Given the description of an element on the screen output the (x, y) to click on. 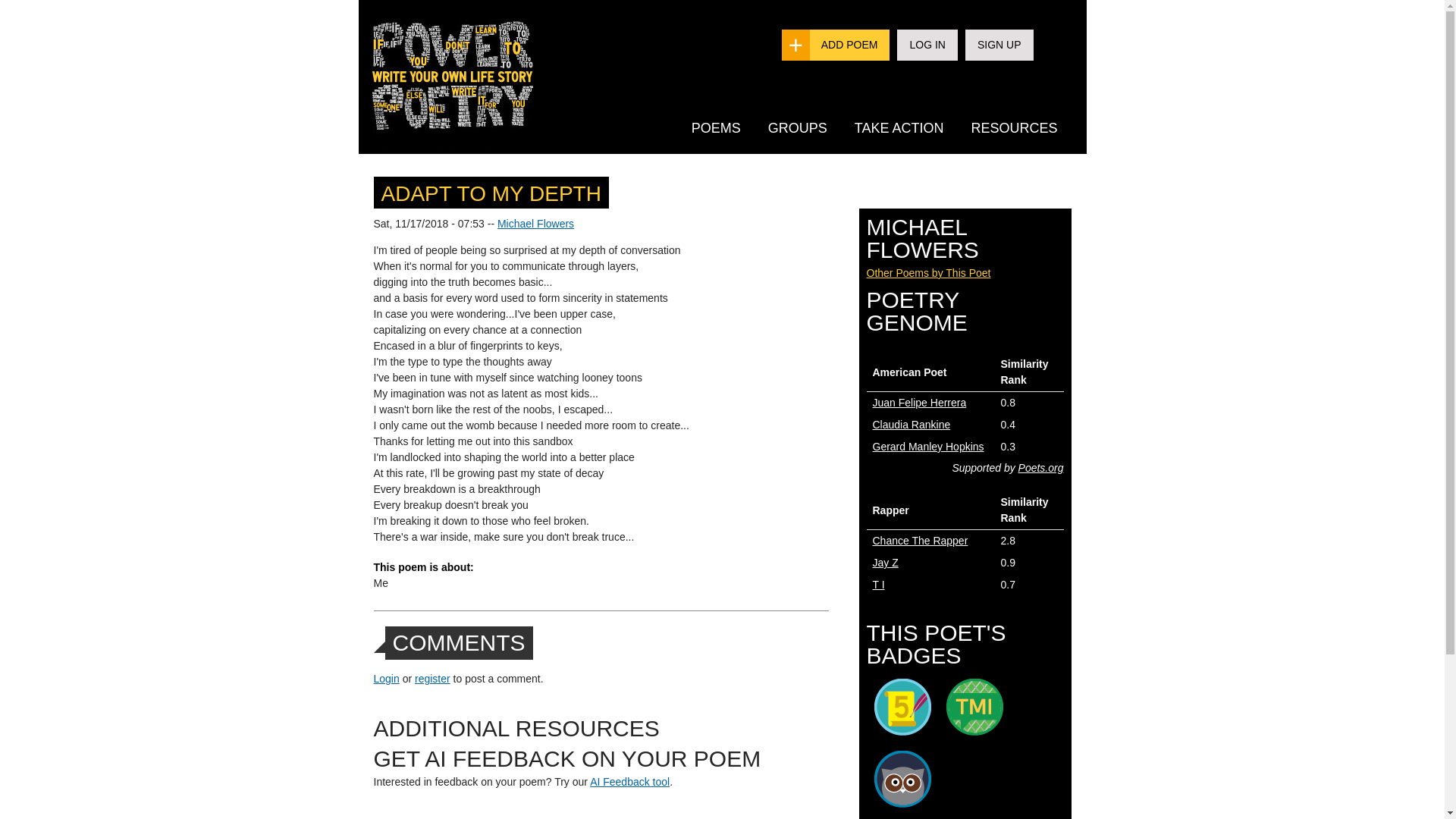
LOG IN (926, 44)
GROUPS (797, 127)
RESOURCES (1013, 127)
TAKE ACTION (899, 127)
SIGN UP (999, 44)
ADD POEM (849, 44)
Skip to main content (691, 1)
Michael Flowers (535, 223)
POEMS (716, 127)
